Given the description of an element on the screen output the (x, y) to click on. 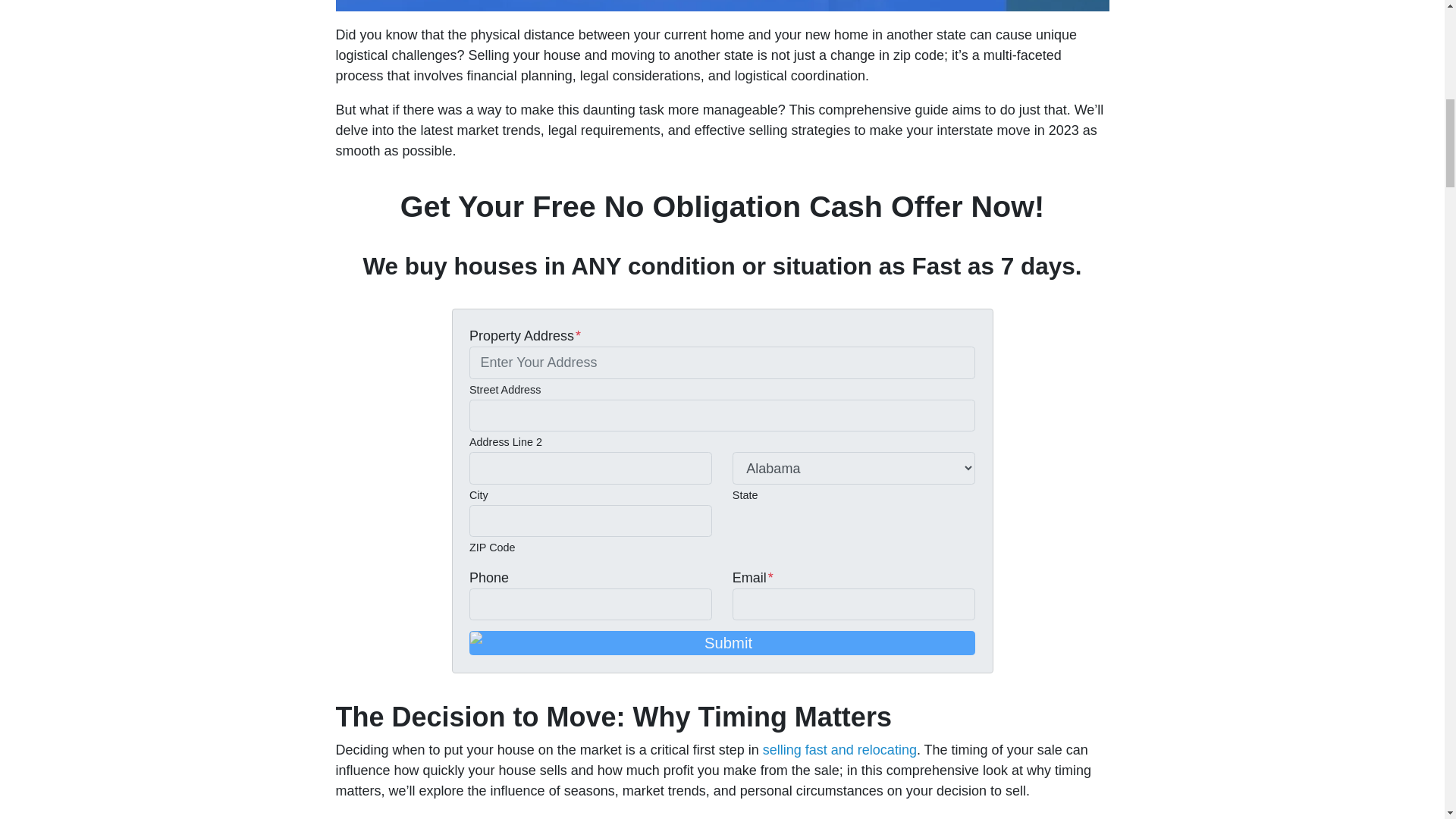
selling fast and relocating (839, 749)
